Given the description of an element on the screen output the (x, y) to click on. 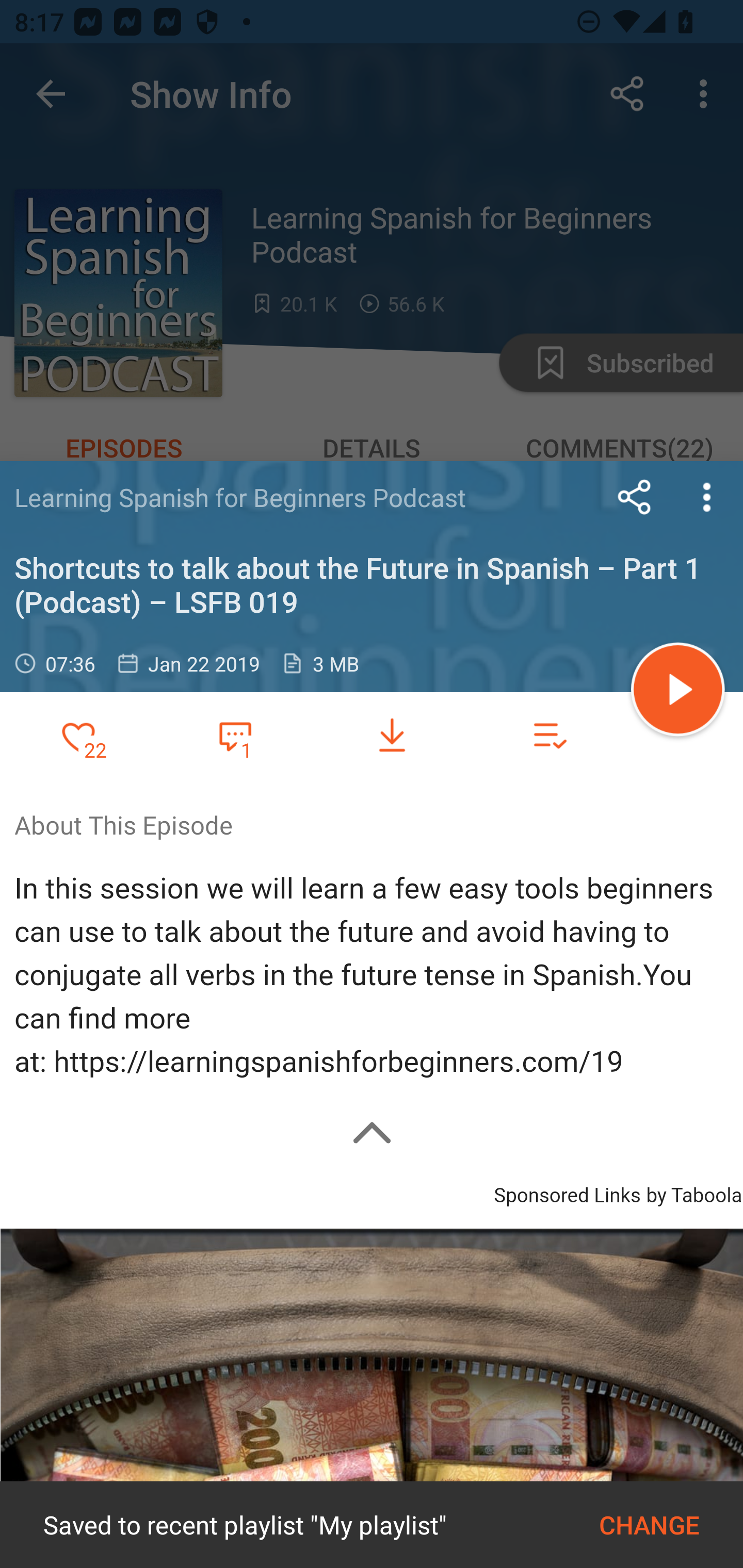
Share (634, 496)
more options (706, 496)
Play (677, 692)
1 Favorite (234, 735)
Add to Favorites (78, 735)
Download (391, 735)
Add to playlist (548, 735)
Sponsored Links (566, 1193)
by Taboola (693, 1193)
Image for Taboola Advertising Unit (371, 1397)
Saved to recent playlist "My playlist" CHANGE (371, 1524)
CHANGE (648, 1524)
